Given the description of an element on the screen output the (x, y) to click on. 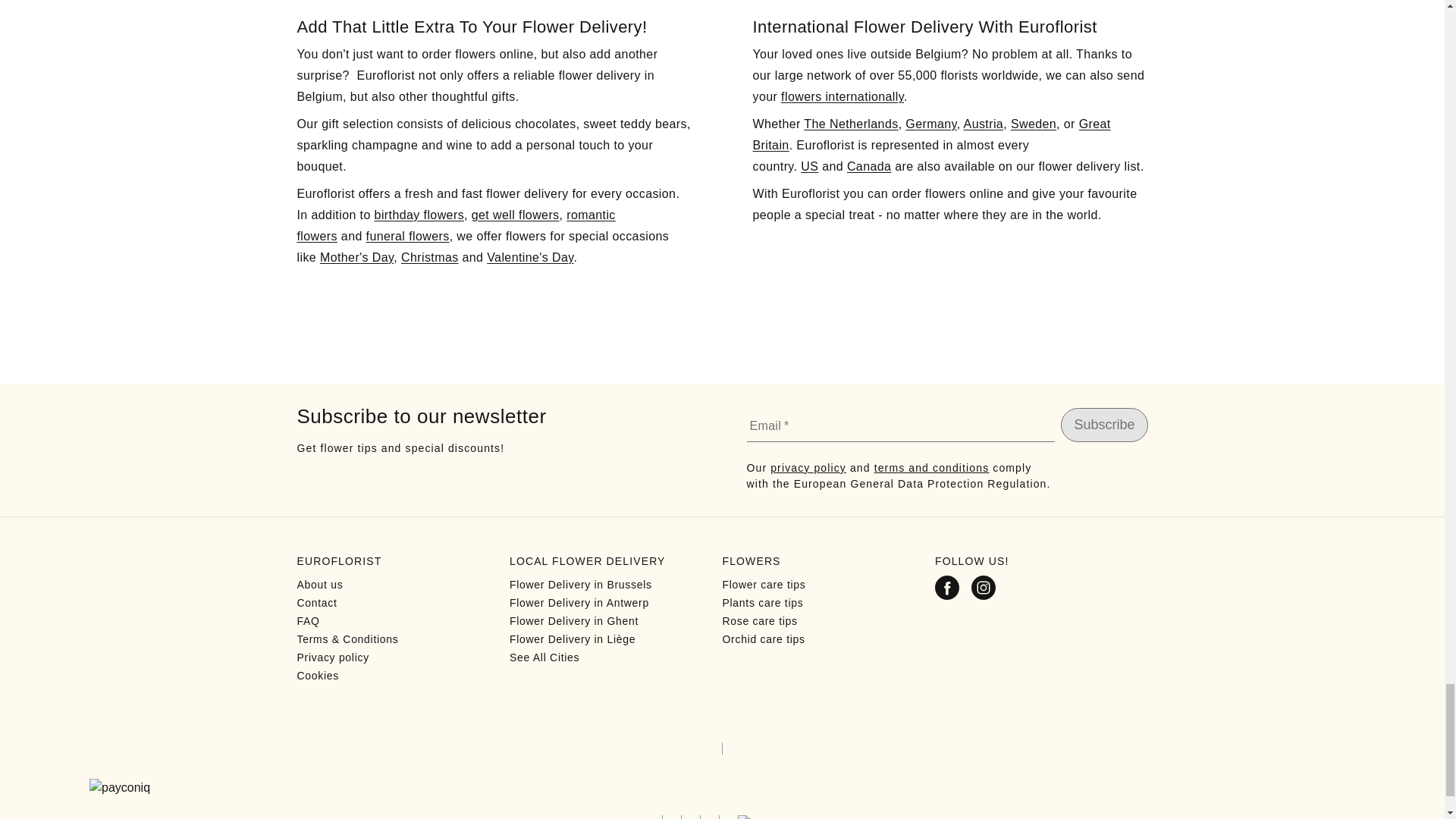
payconiq (721, 787)
klarna (760, 816)
